Given the description of an element on the screen output the (x, y) to click on. 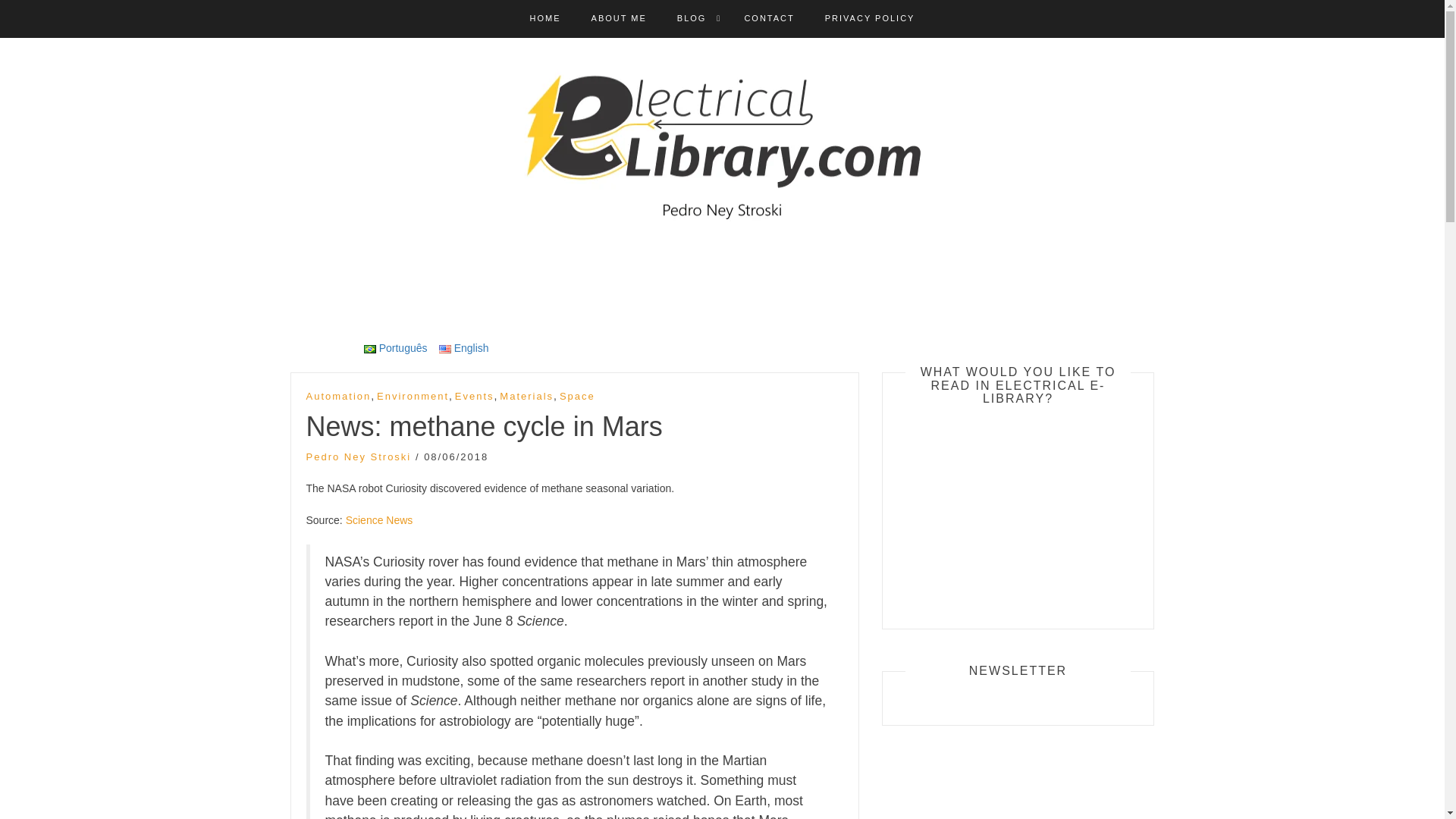
Environment (412, 396)
ABOUT ME (618, 18)
Materials (526, 396)
Science News (379, 520)
Automation (338, 396)
PRIVACY POLICY (870, 18)
CONTACT (768, 18)
Pedro Ney Stroski (358, 456)
English (464, 347)
Space (577, 396)
